Given the description of an element on the screen output the (x, y) to click on. 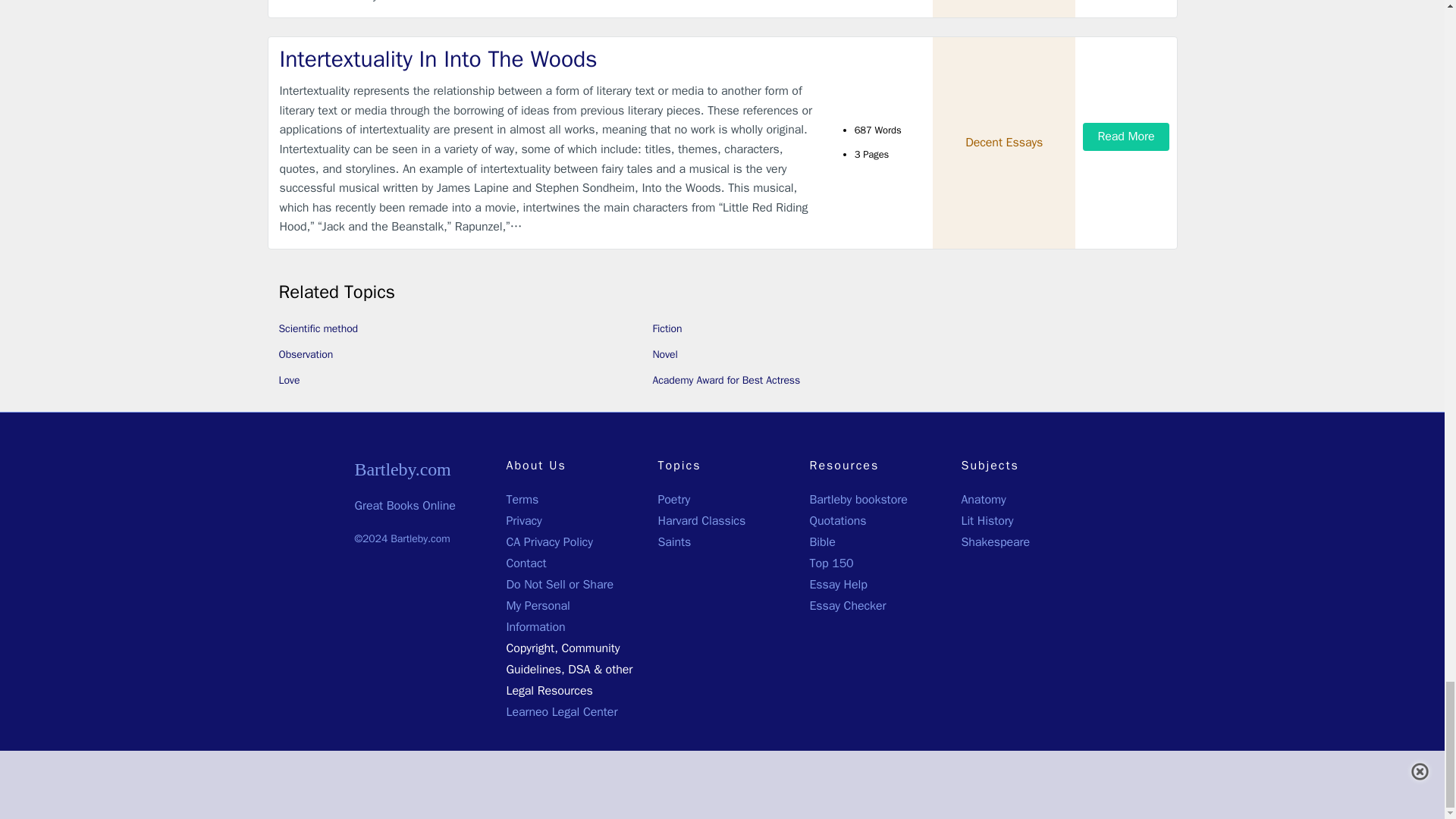
Scientific method (318, 328)
Academy Award for Best Actress (725, 379)
Fiction (666, 328)
Novel (664, 354)
Observation (306, 354)
Love (289, 379)
